Given the description of an element on the screen output the (x, y) to click on. 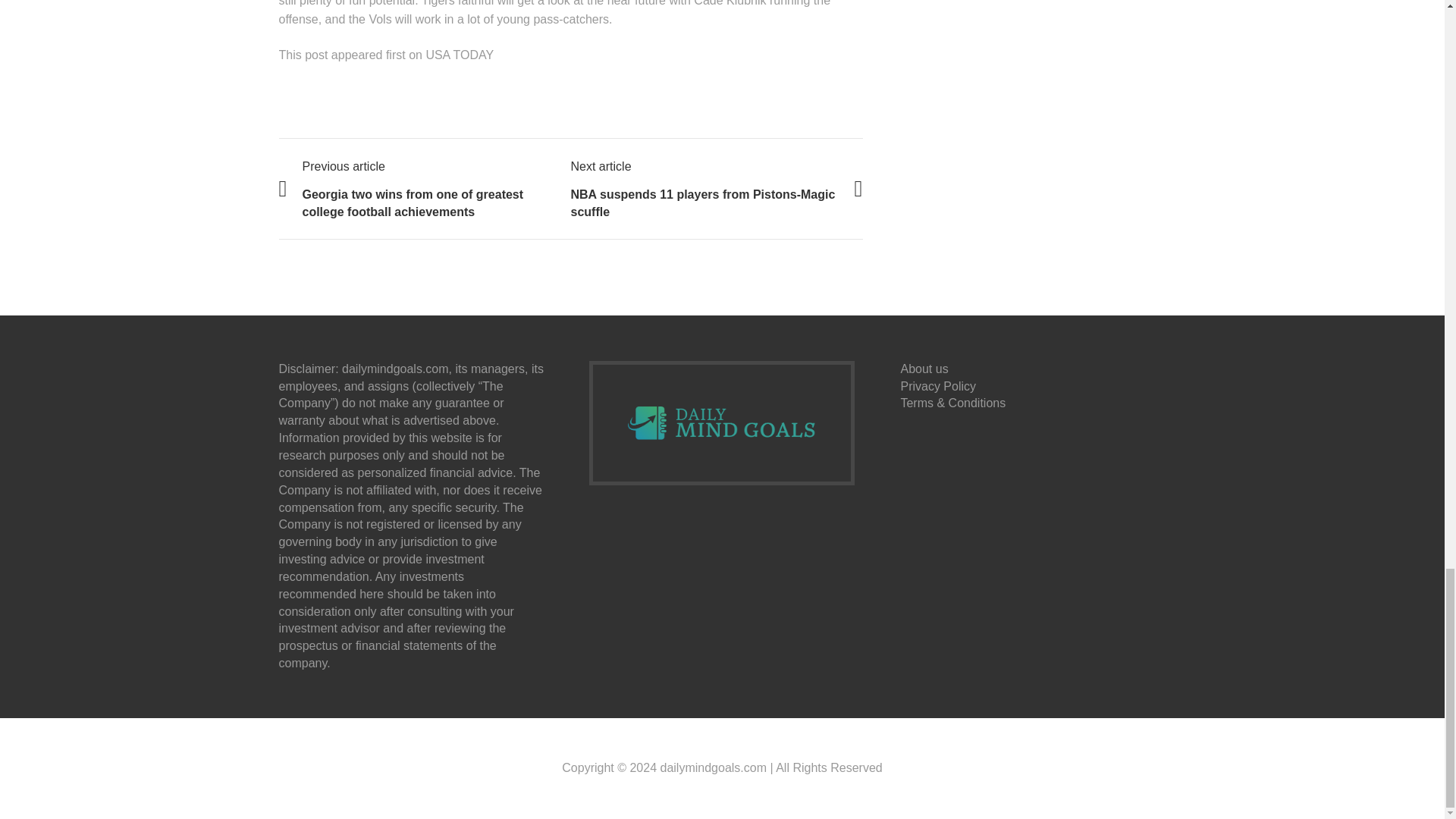
About us (923, 368)
Privacy Policy (937, 386)
